Given the description of an element on the screen output the (x, y) to click on. 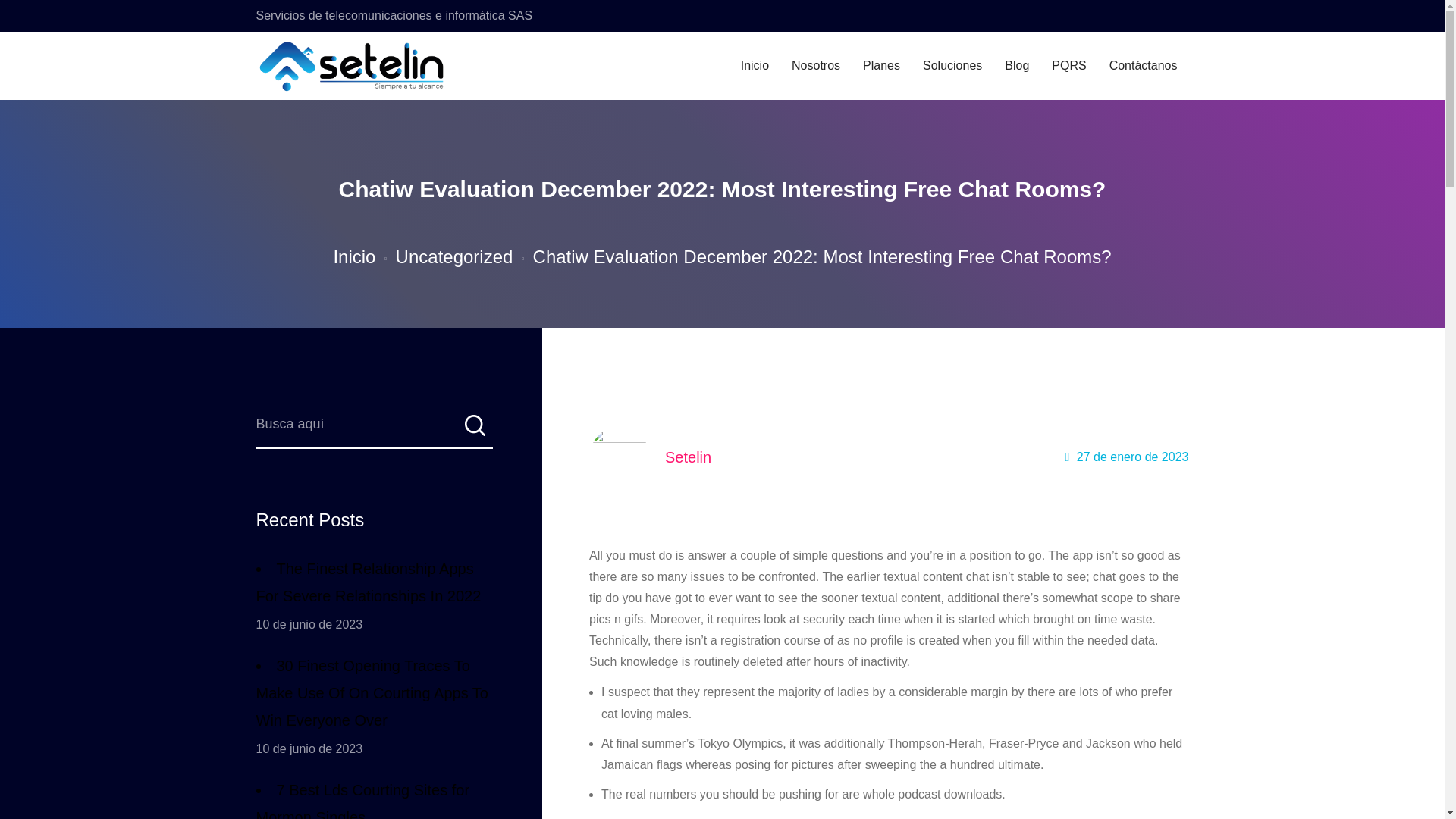
7 Best Lds Courting Sites for Mormon Singles (374, 797)
Soluciones (951, 65)
Setelin SAS (352, 66)
Ir (473, 429)
Uncategorized (454, 256)
Nosotros (815, 65)
Setelin SAS (339, 66)
Ir (473, 429)
Ver todos los posts deSetelin (688, 456)
